Given the description of an element on the screen output the (x, y) to click on. 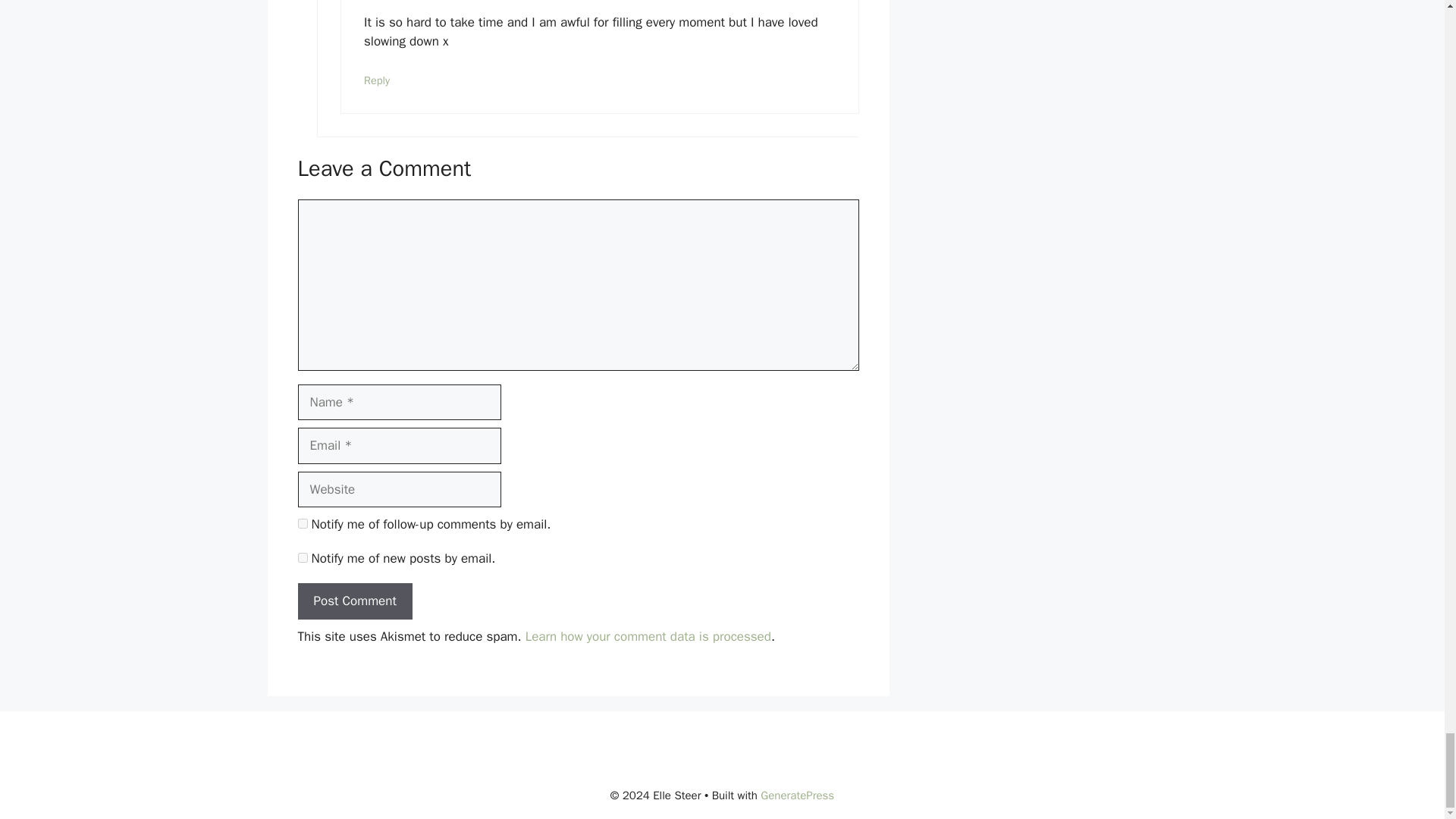
subscribe (302, 523)
subscribe (302, 557)
Post Comment (354, 601)
